Given the description of an element on the screen output the (x, y) to click on. 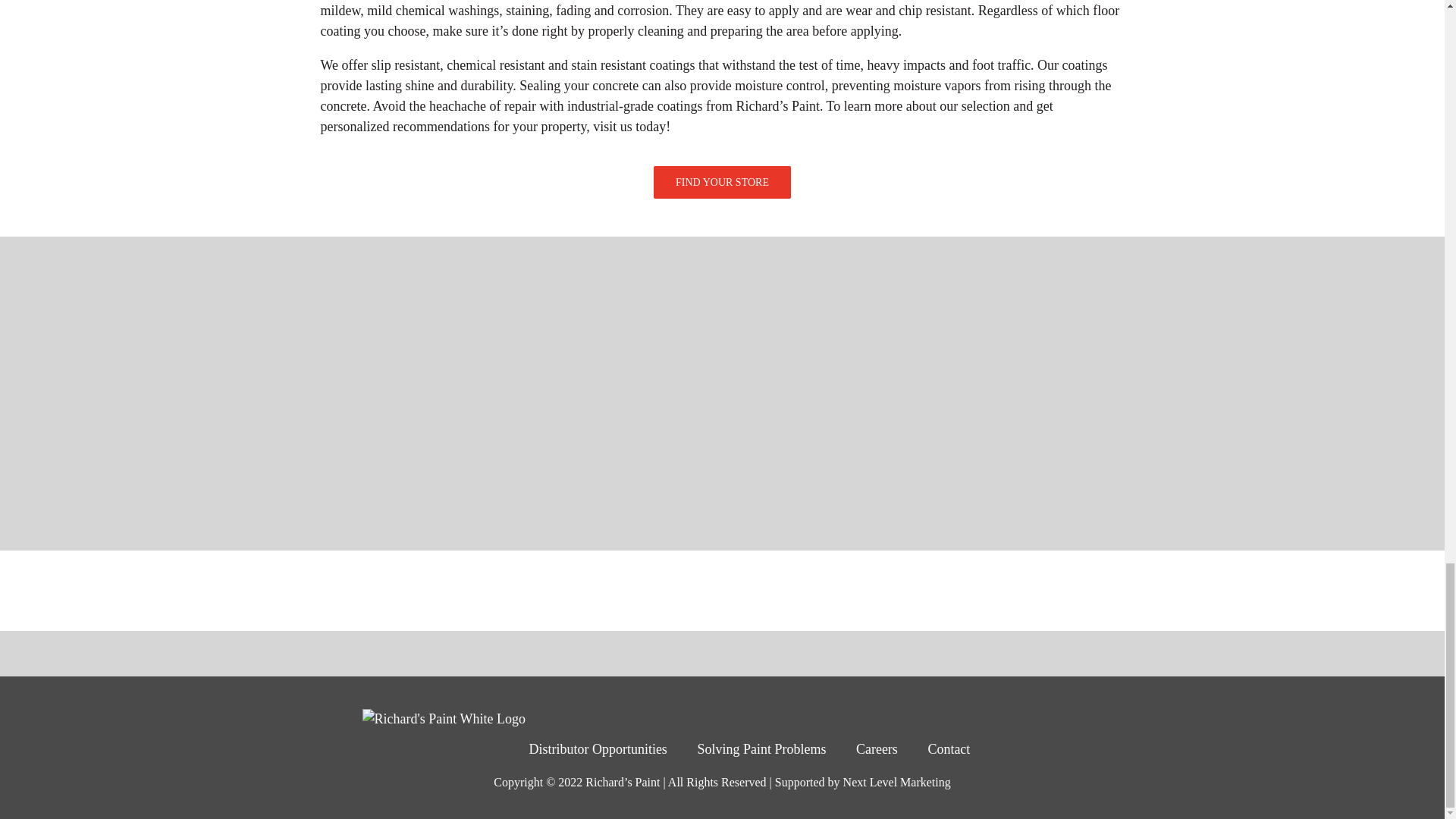
Entryway Paint Button (808, 589)
Bedroom Paint Button (717, 589)
Office Paint (438, 589)
FIND YOUR STORE (722, 189)
Family Room Paint Button (1086, 589)
Home Exterior (531, 589)
Kitchen Paint Button (623, 589)
Bedroom (717, 589)
Dining Room Paint Button (993, 589)
Home Exterior Paint Button (531, 589)
Deck Paint Button (346, 589)
Office Paint Button (438, 589)
Bathroom Paint Button (901, 589)
Kitchen (623, 589)
Deck Paint (346, 589)
